Given the description of an element on the screen output the (x, y) to click on. 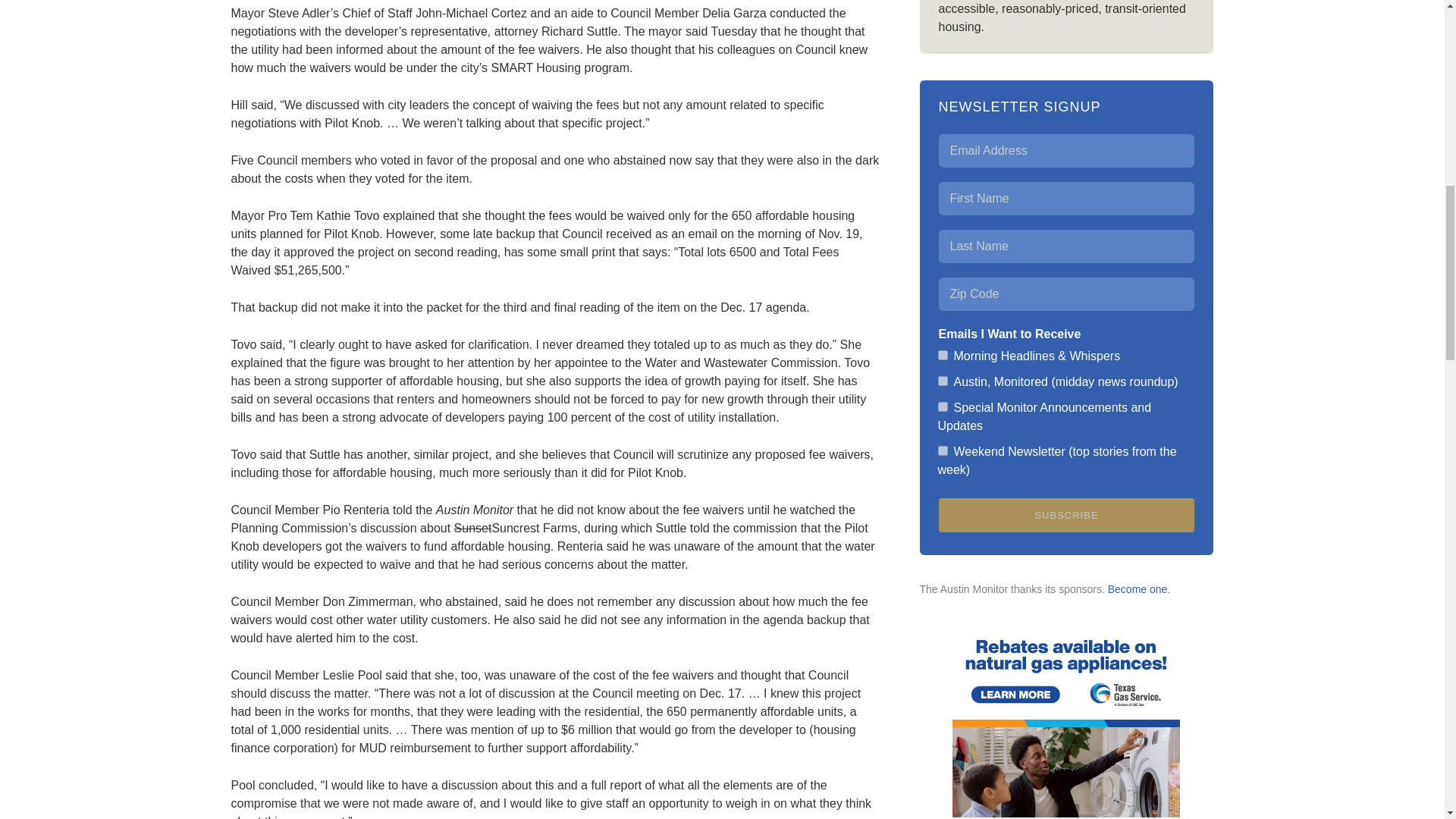
Subscribe (1067, 514)
16 (942, 450)
4 (942, 380)
8 (942, 406)
Become a sponsor (1137, 588)
Subscribe (1067, 514)
1 (942, 355)
